Given the description of an element on the screen output the (x, y) to click on. 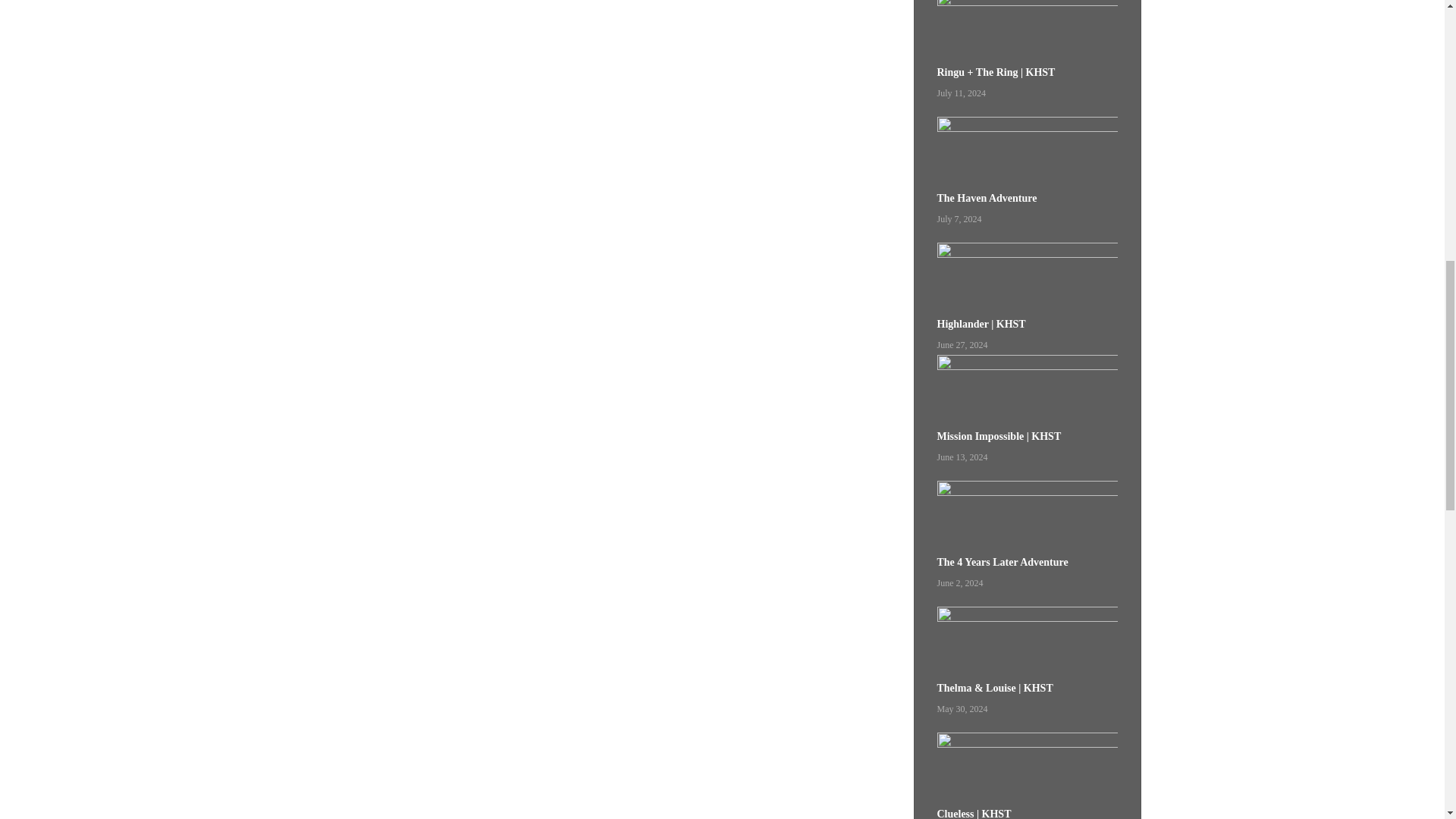
The 4 Years Later Adventure (1027, 568)
The Haven Adventure (1027, 204)
